Given the description of an element on the screen output the (x, y) to click on. 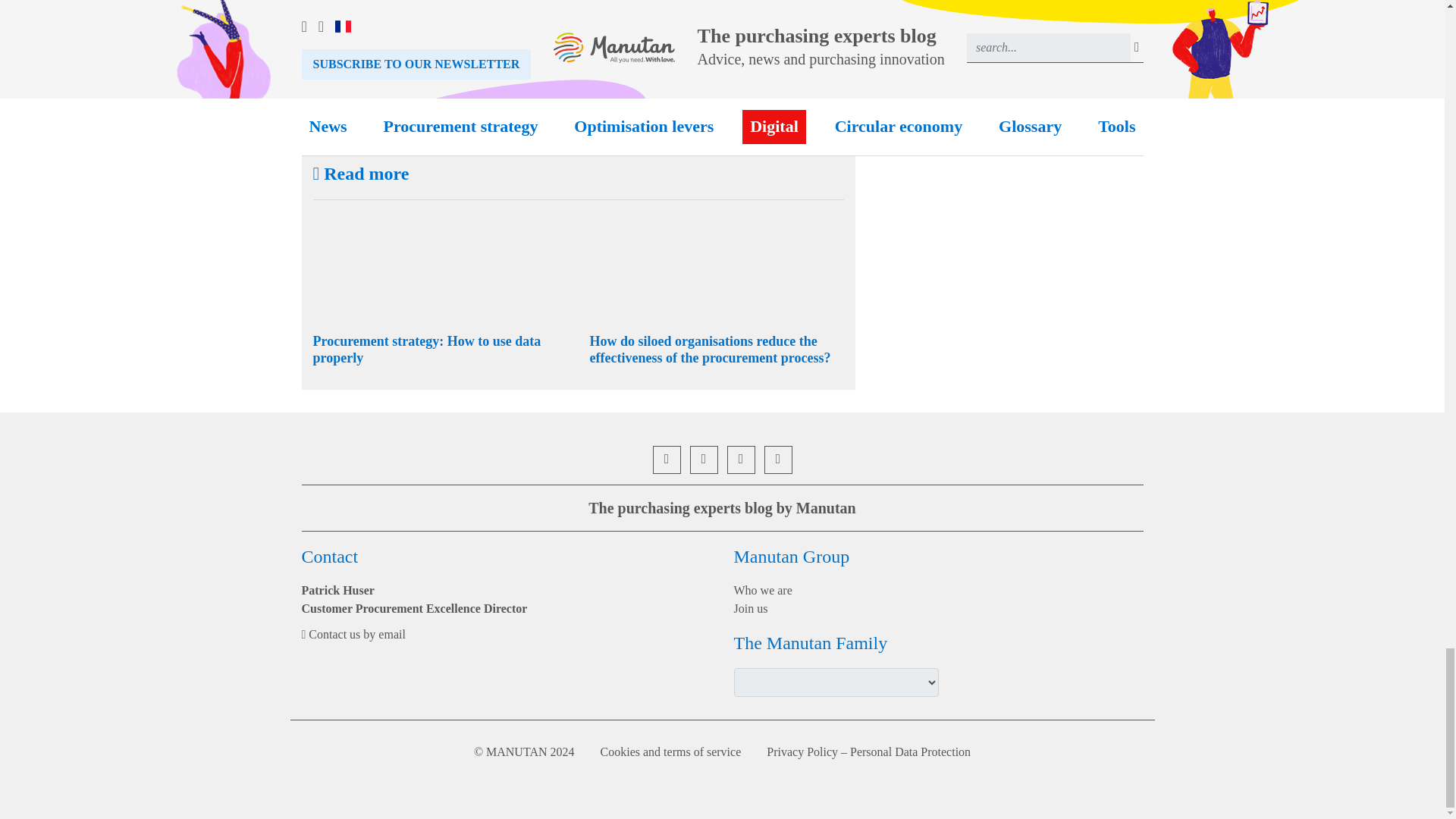
Two approaches to digitalising purchasing departments (546, 40)
Procurement strategy: How to use data properly (426, 349)
